Given the description of an element on the screen output the (x, y) to click on. 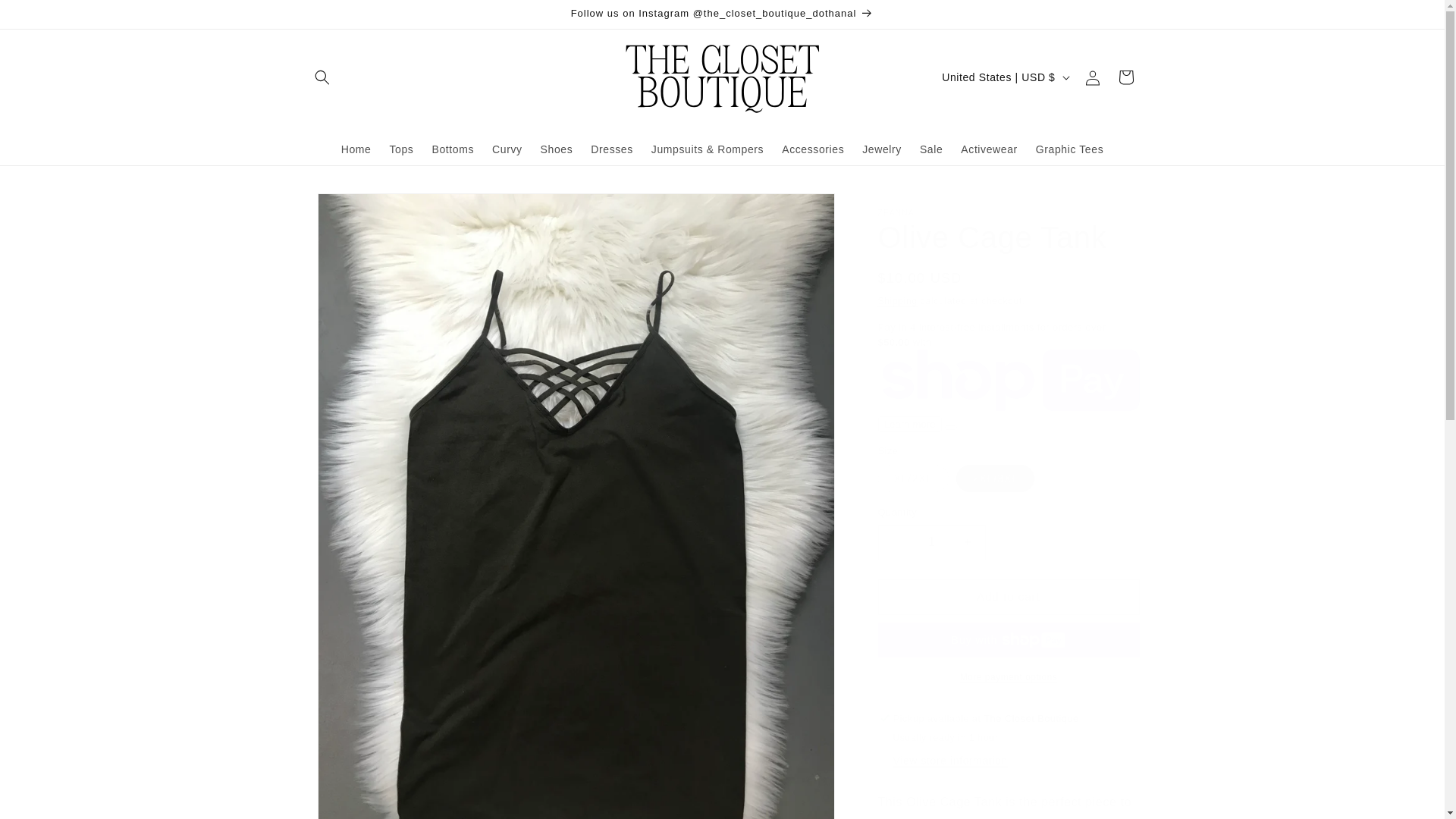
Cart (1124, 77)
Shoes (556, 149)
Accessories (813, 149)
Home (355, 149)
Tops (401, 149)
Sale (931, 149)
Bottoms (452, 149)
Graphic Tees (1069, 149)
Dresses (611, 149)
Skip to content (45, 17)
Curvy (507, 149)
Log in (1091, 77)
1 (931, 542)
Activewear (989, 149)
Jewelry (882, 149)
